Given the description of an element on the screen output the (x, y) to click on. 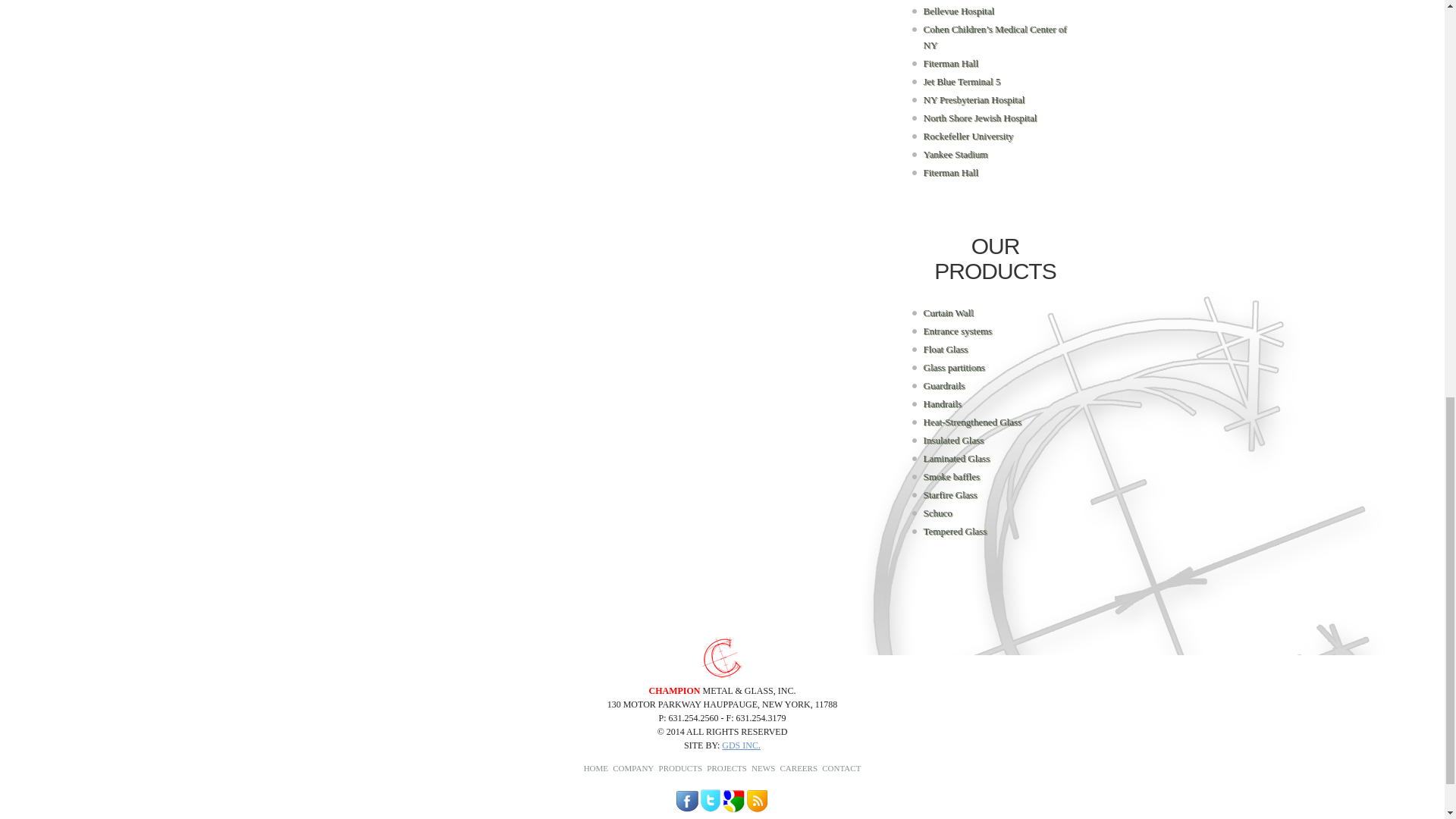
NY Presbyterian Hospital (974, 99)
Fiterman Hall (950, 62)
Jet Blue Terminal 5 (962, 81)
Architectural company (721, 657)
Bellevue Hospital (958, 10)
